Given the description of an element on the screen output the (x, y) to click on. 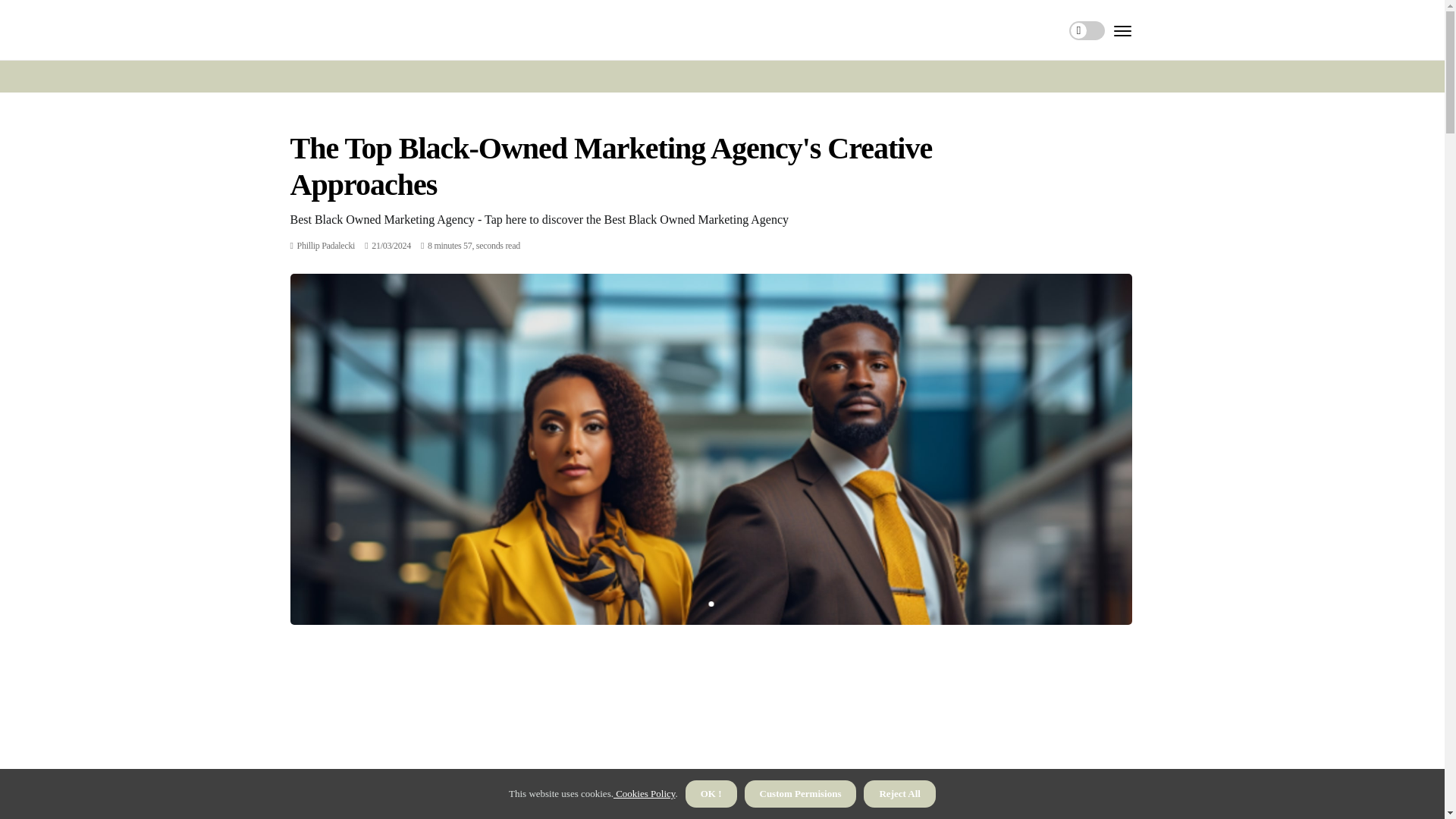
1 (710, 603)
Phillip Padalecki (326, 245)
Posts by Phillip Padalecki (326, 245)
